Given the description of an element on the screen output the (x, y) to click on. 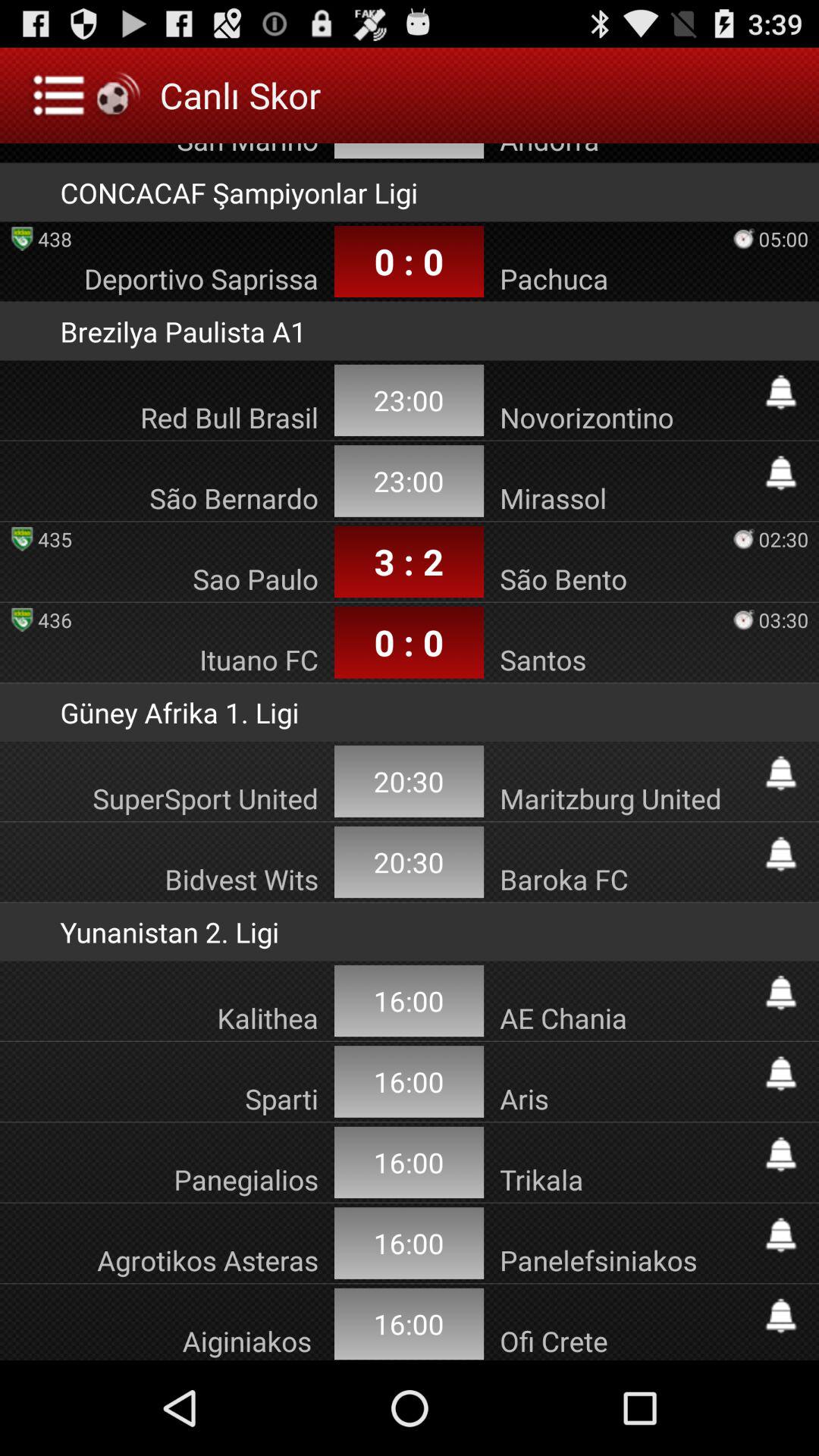
set alarm (780, 854)
